Given the description of an element on the screen output the (x, y) to click on. 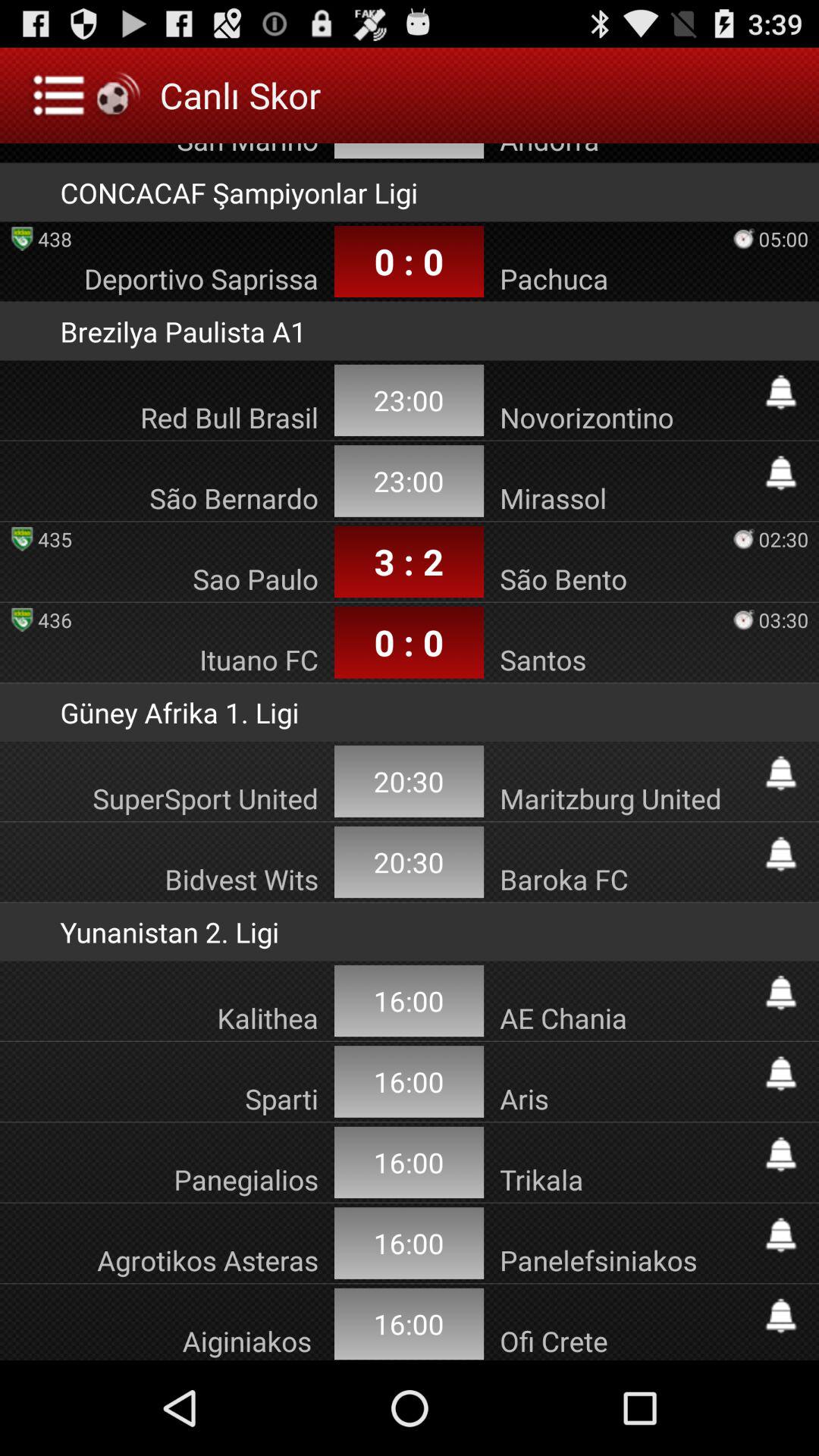
set alarm (780, 854)
